Given the description of an element on the screen output the (x, y) to click on. 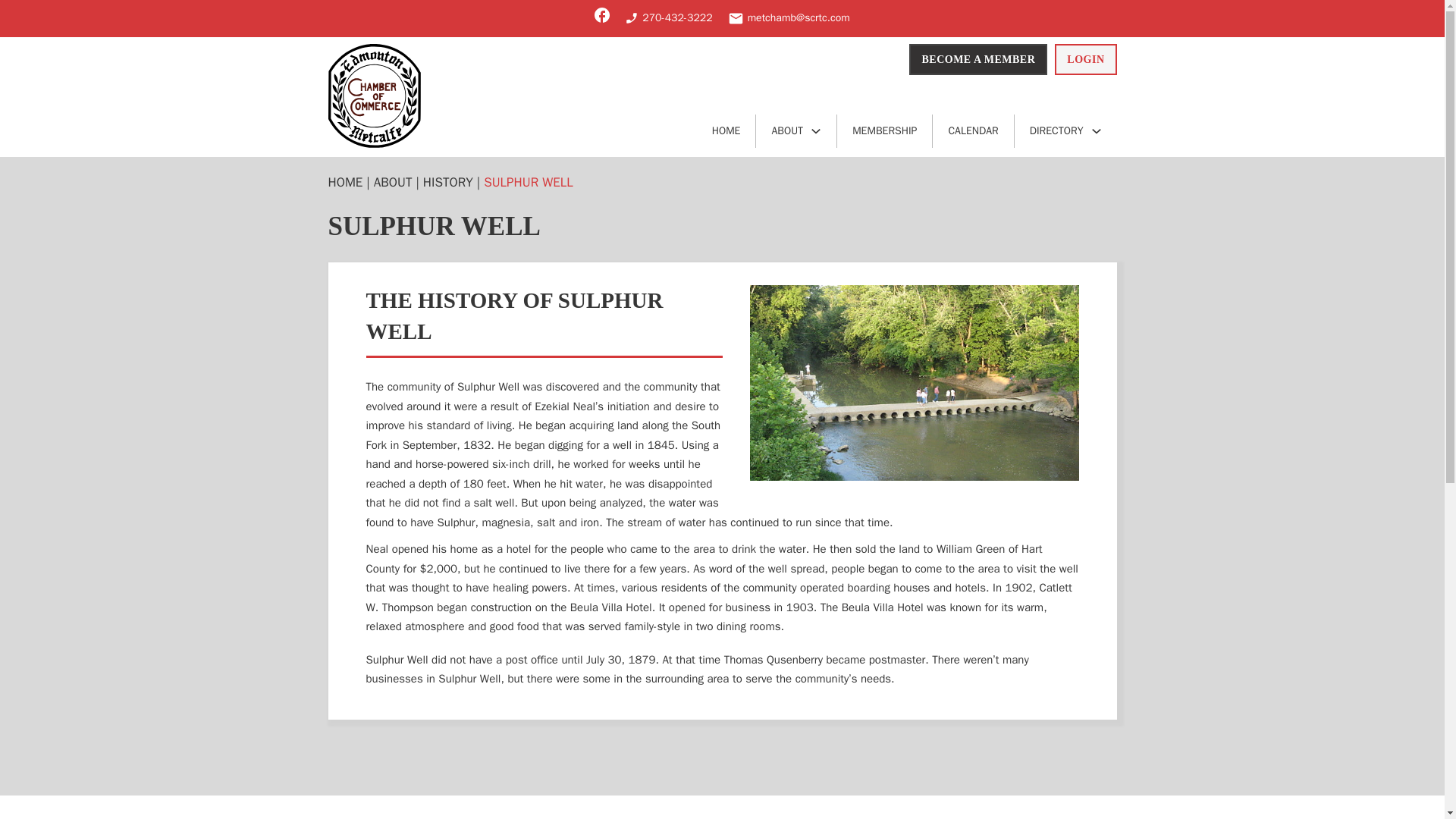
BECOME A MEMBER (977, 60)
270-432-3222 (667, 18)
CALENDAR (973, 131)
DIRECTORY (1056, 131)
HOME (727, 131)
ABOUT (787, 131)
MEMBERSHIP (885, 131)
